Given the description of an element on the screen output the (x, y) to click on. 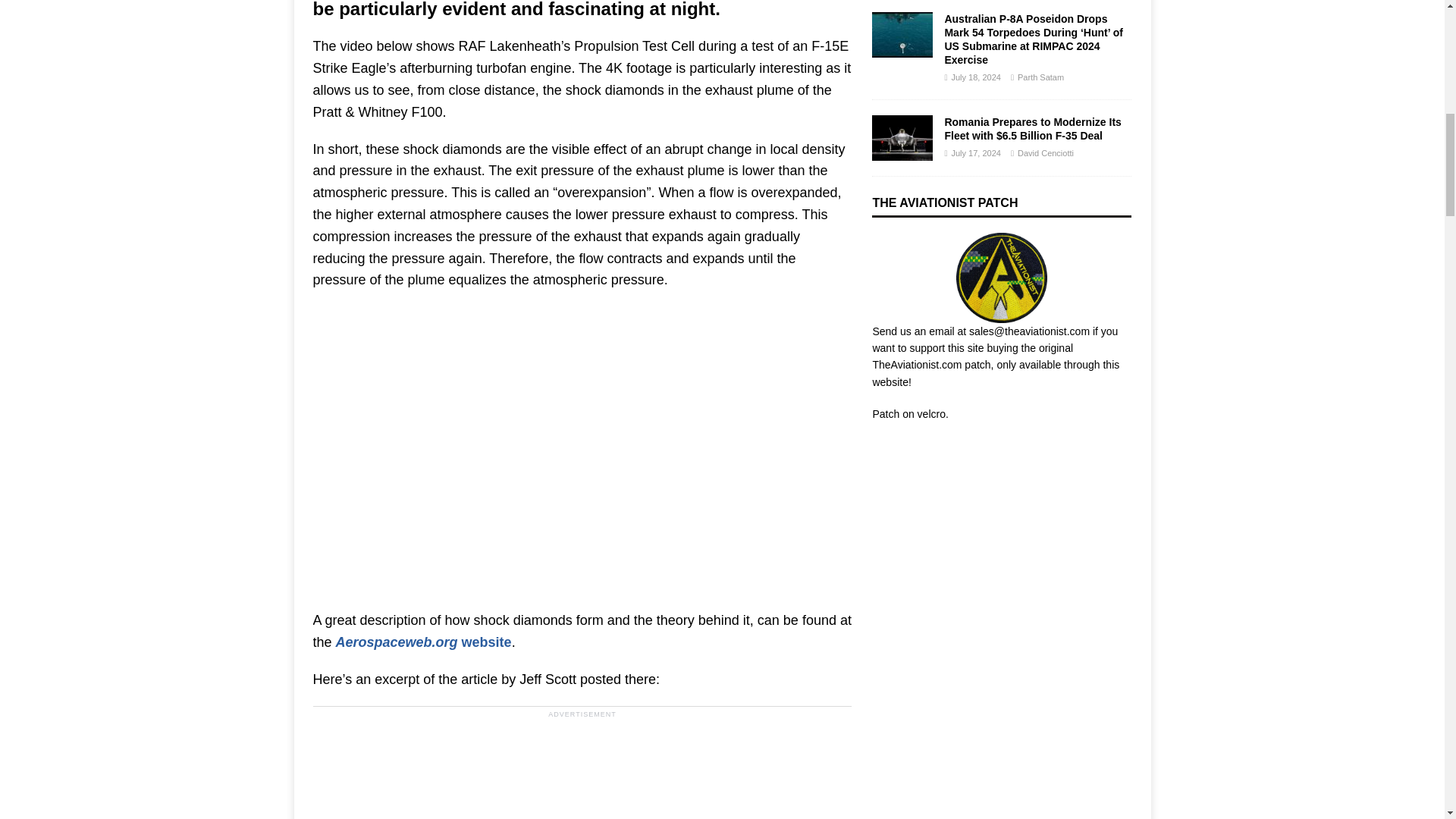
Aerospaceweb.org website (424, 642)
